Given the description of an element on the screen output the (x, y) to click on. 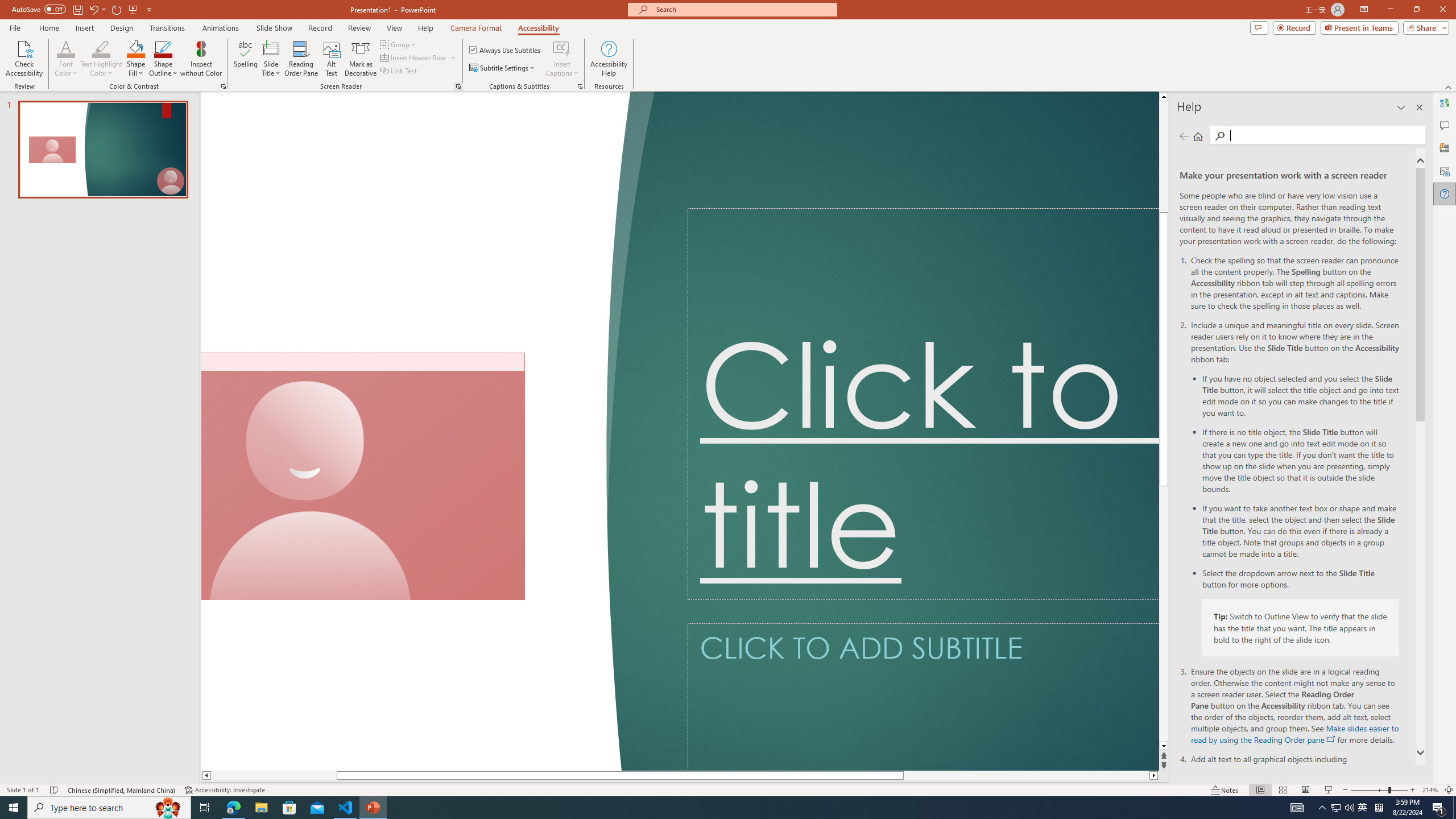
Accessibility Help (608, 58)
Insert Captions (561, 48)
Always Use Subtitles (505, 49)
